Given the description of an element on the screen output the (x, y) to click on. 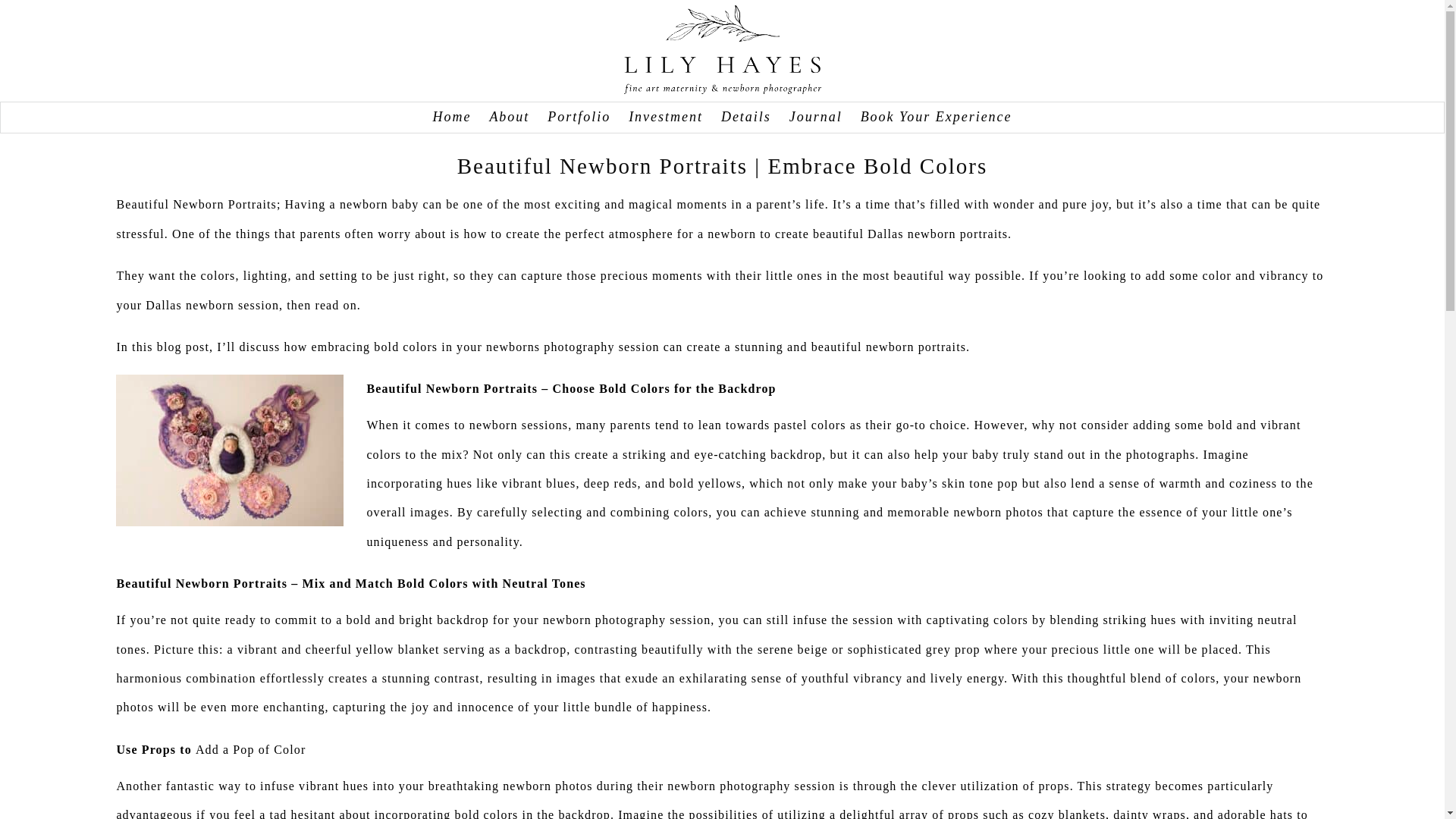
Book Your Experience (935, 116)
Journal (816, 116)
About (509, 116)
Home (451, 116)
Add a Pop of Color (250, 748)
Portfolio (578, 116)
Investment (665, 116)
Details (745, 116)
